Given the description of an element on the screen output the (x, y) to click on. 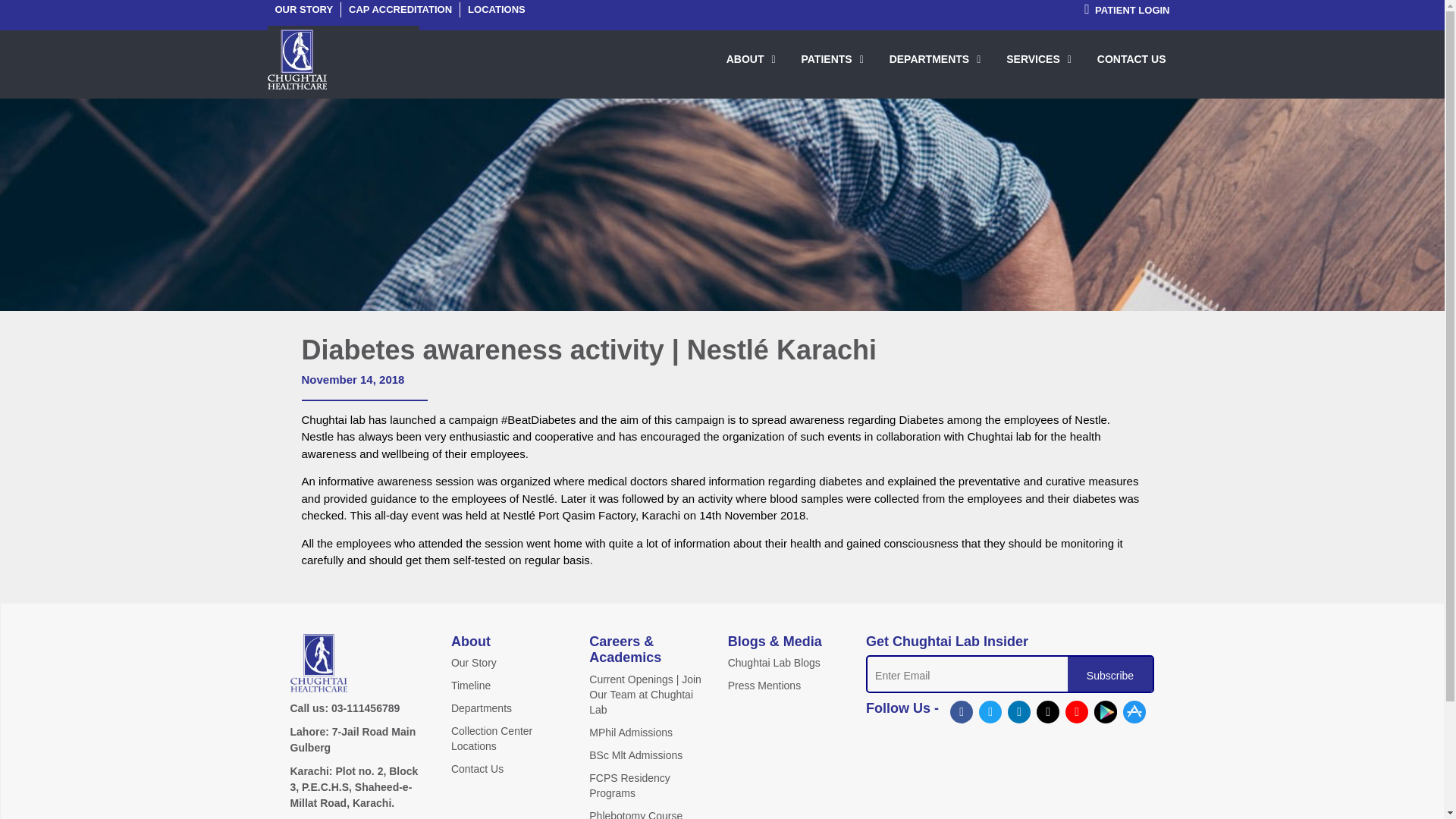
DEPARTMENTS (934, 58)
Chughtai Lab Android (1105, 712)
Chughtai Lab - Twitter (989, 712)
Locations (496, 9)
Chughtai Lab - Youtube (1076, 712)
Chughtai Lab - LinkedIn (1018, 712)
LOCATIONS (496, 9)
Subscribe (1110, 675)
Patient Login (1126, 9)
Chughtai Lab - Facebook (961, 712)
